Given the description of an element on the screen output the (x, y) to click on. 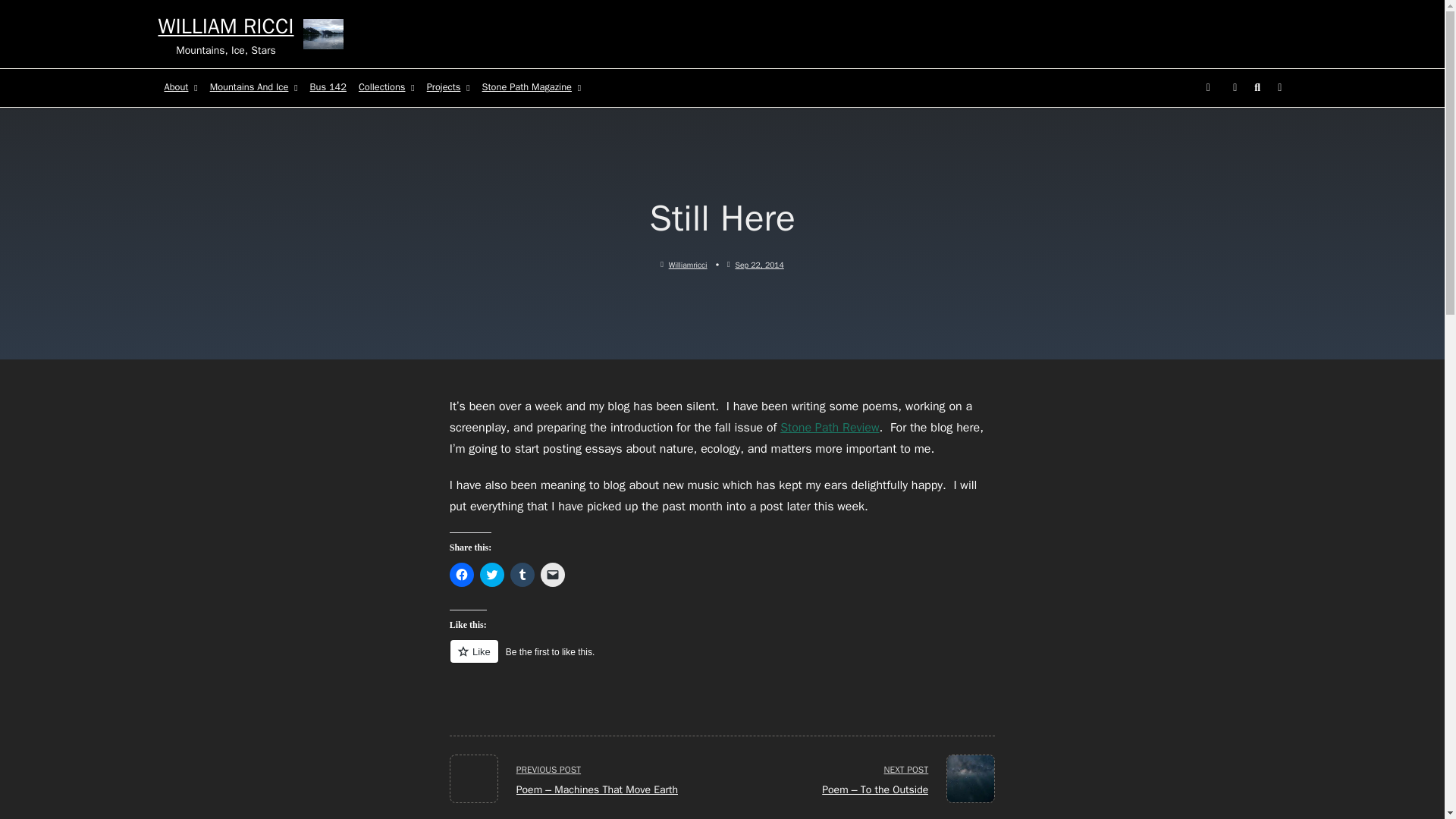
Click to share on Tumblr (522, 574)
Click to email a link to a friend (552, 574)
Like or Reblog (722, 659)
Click to share on Twitter (491, 574)
Click to share on Facebook (461, 574)
